Given the description of an element on the screen output the (x, y) to click on. 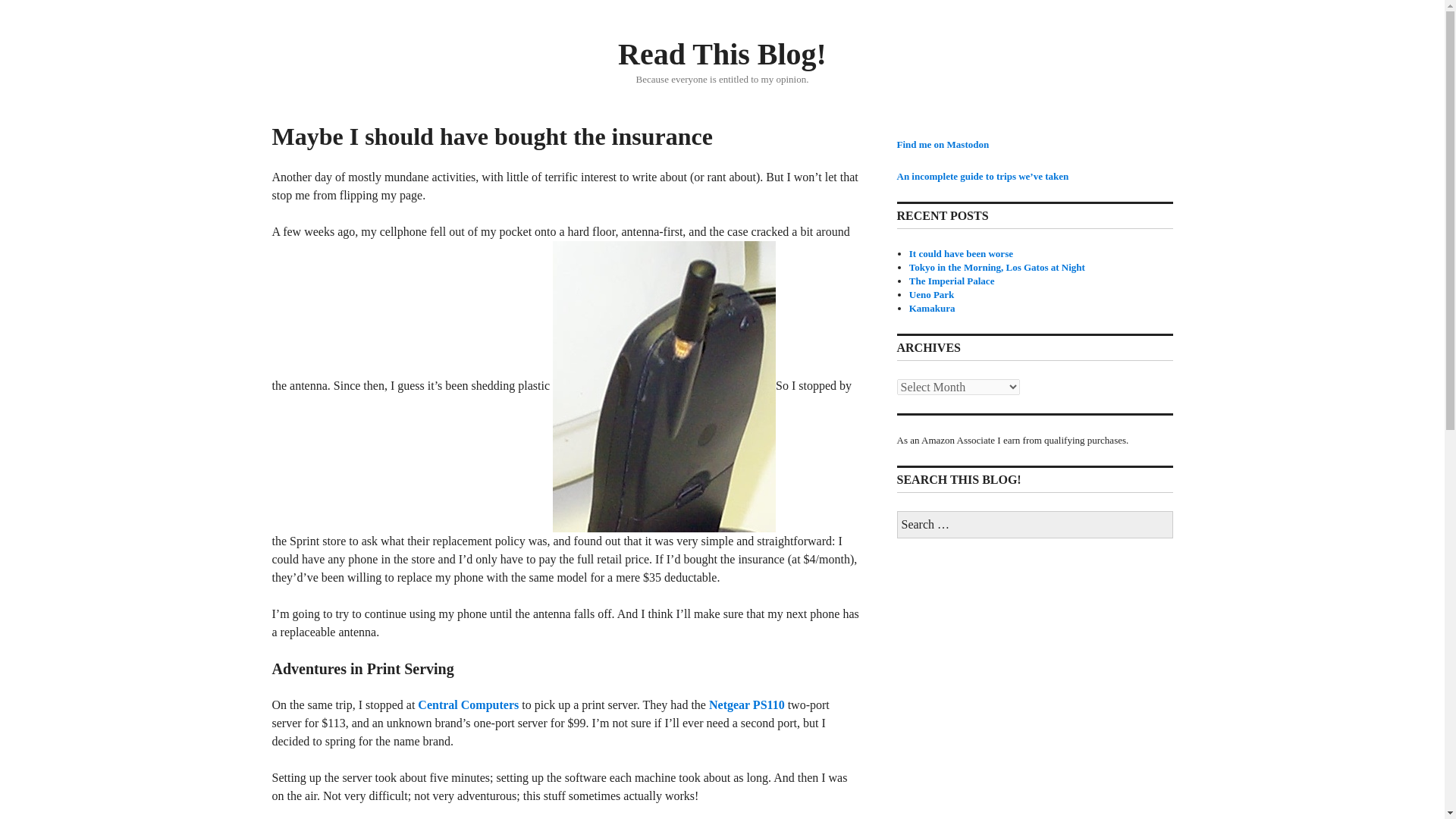
Search (8, 4)
Kamakura (931, 307)
Central Computers (467, 704)
Read This Blog! (722, 53)
The Imperial Palace (951, 280)
Tokyo in the Morning, Los Gatos at Night (996, 266)
Netgear PS110 (746, 704)
It could have been worse (960, 253)
Ueno Park (931, 294)
Find me on Mastodon (942, 143)
